Given the description of an element on the screen output the (x, y) to click on. 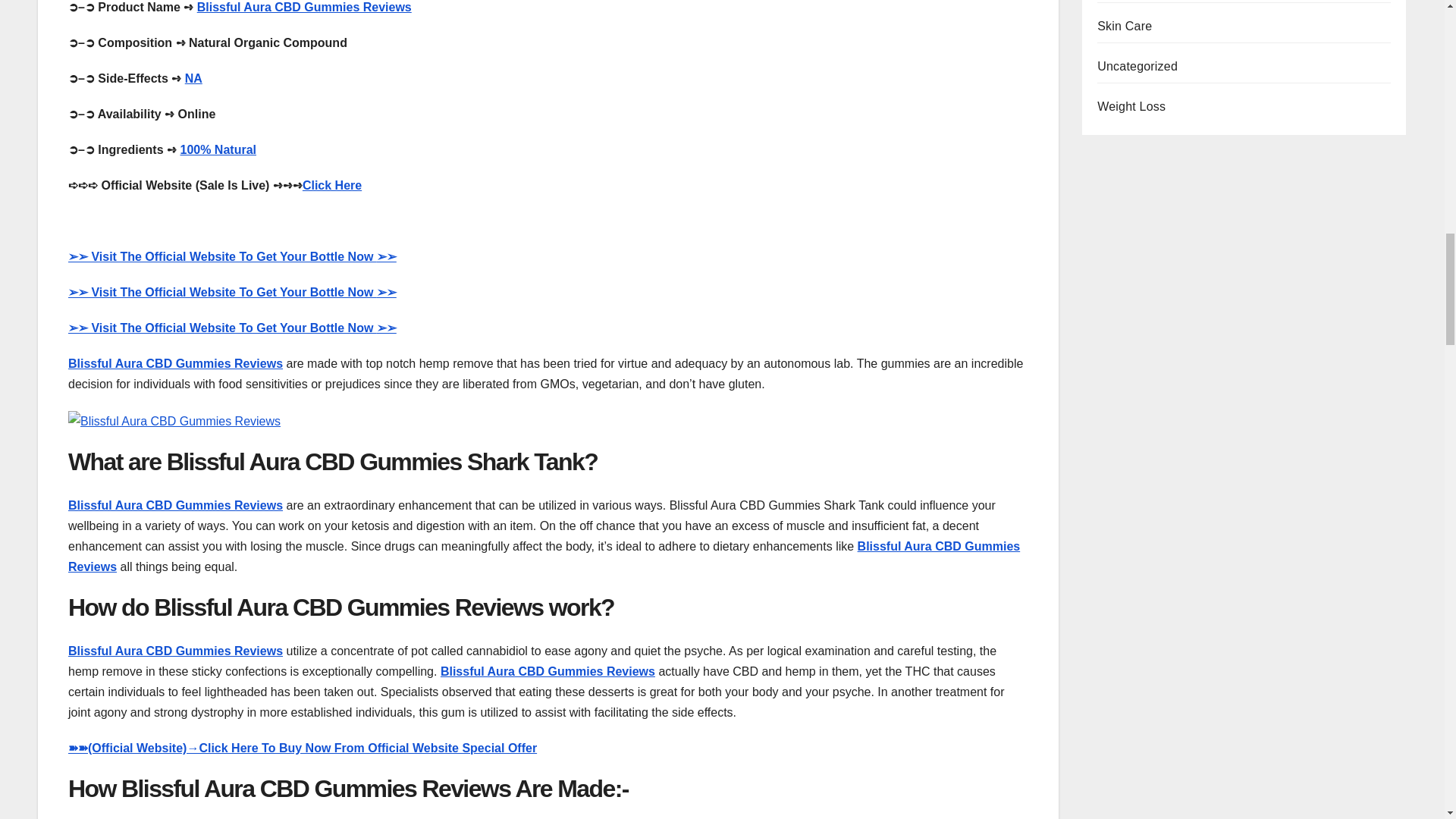
Blissful Aura CBD Gummies Reviews (548, 671)
NA (193, 78)
Blissful Aura CBD Gummies Reviews (544, 556)
Blissful Aura CBD Gummies Reviews (175, 363)
Blissful Aura CBD Gummies Reviews (304, 6)
Click Here (331, 185)
Blissful Aura CBD Gummies Reviews (175, 504)
Blissful Aura CBD Gummies Reviews (175, 650)
